Given the description of an element on the screen output the (x, y) to click on. 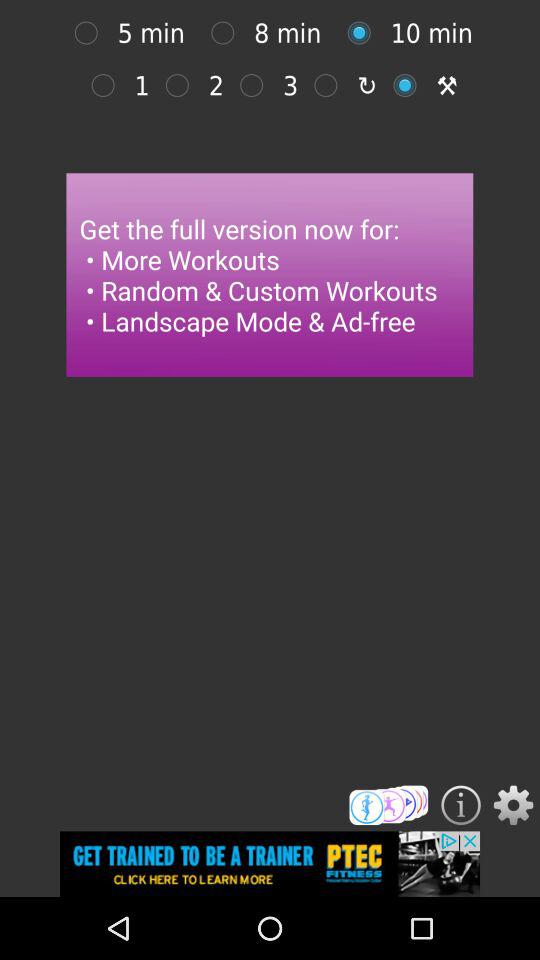
select 3 (330, 85)
